Given the description of an element on the screen output the (x, y) to click on. 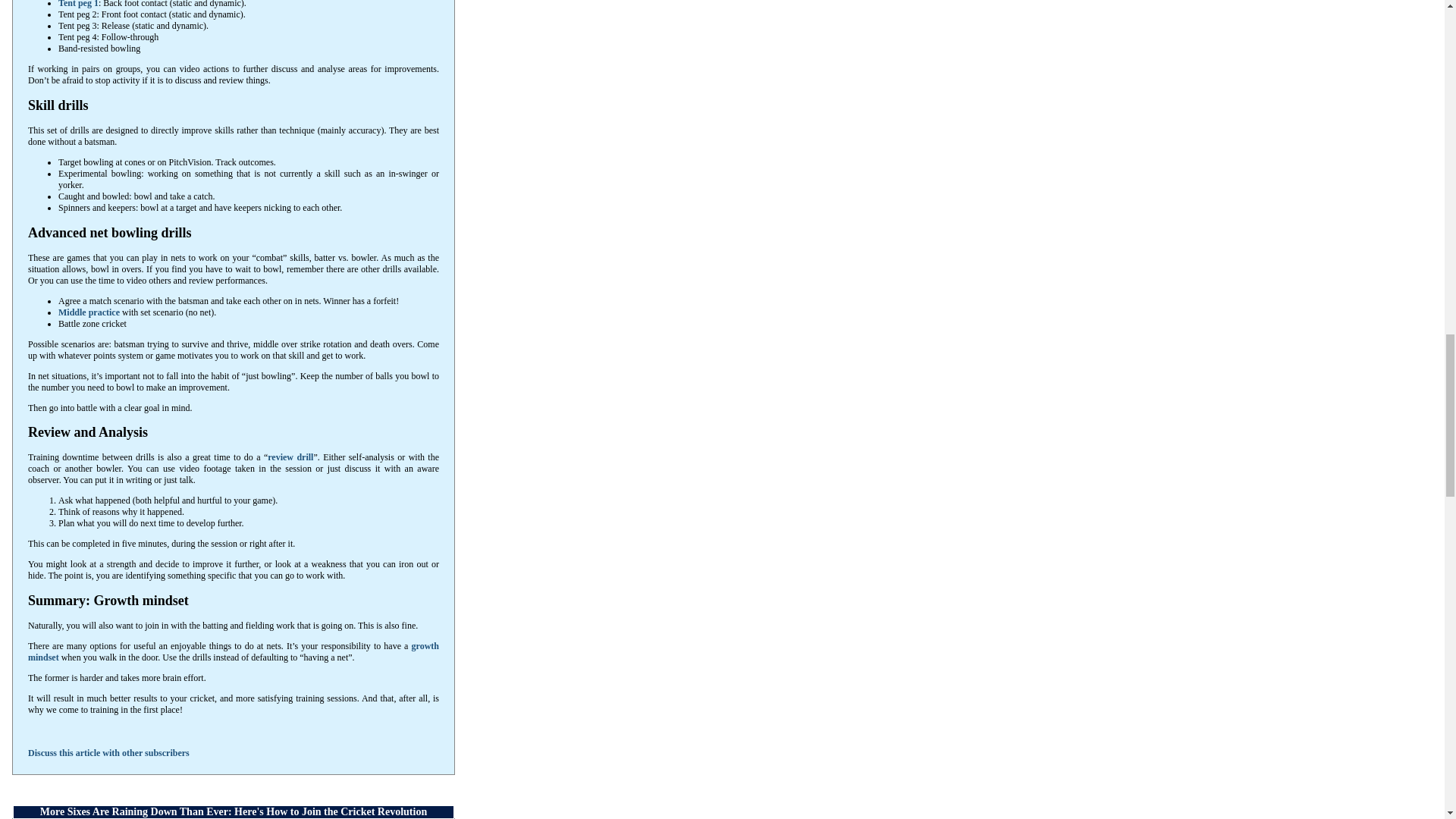
Discuss this article with other subscribers (108, 752)
Middle practice (88, 311)
growth mindset (233, 651)
Tent peg 1 (78, 4)
review drill (290, 457)
